Given the description of an element on the screen output the (x, y) to click on. 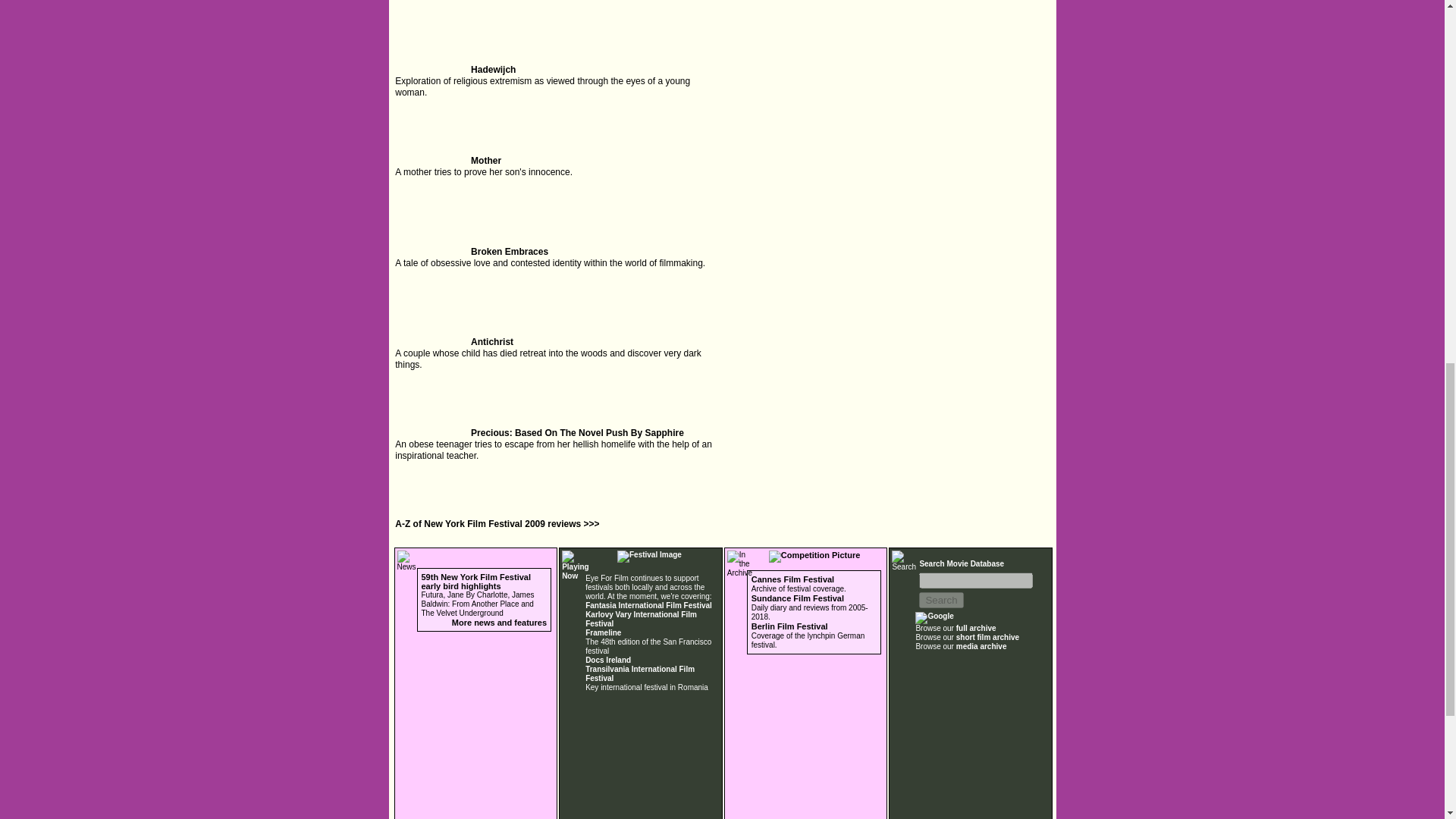
Search (940, 600)
